Given the description of an element on the screen output the (x, y) to click on. 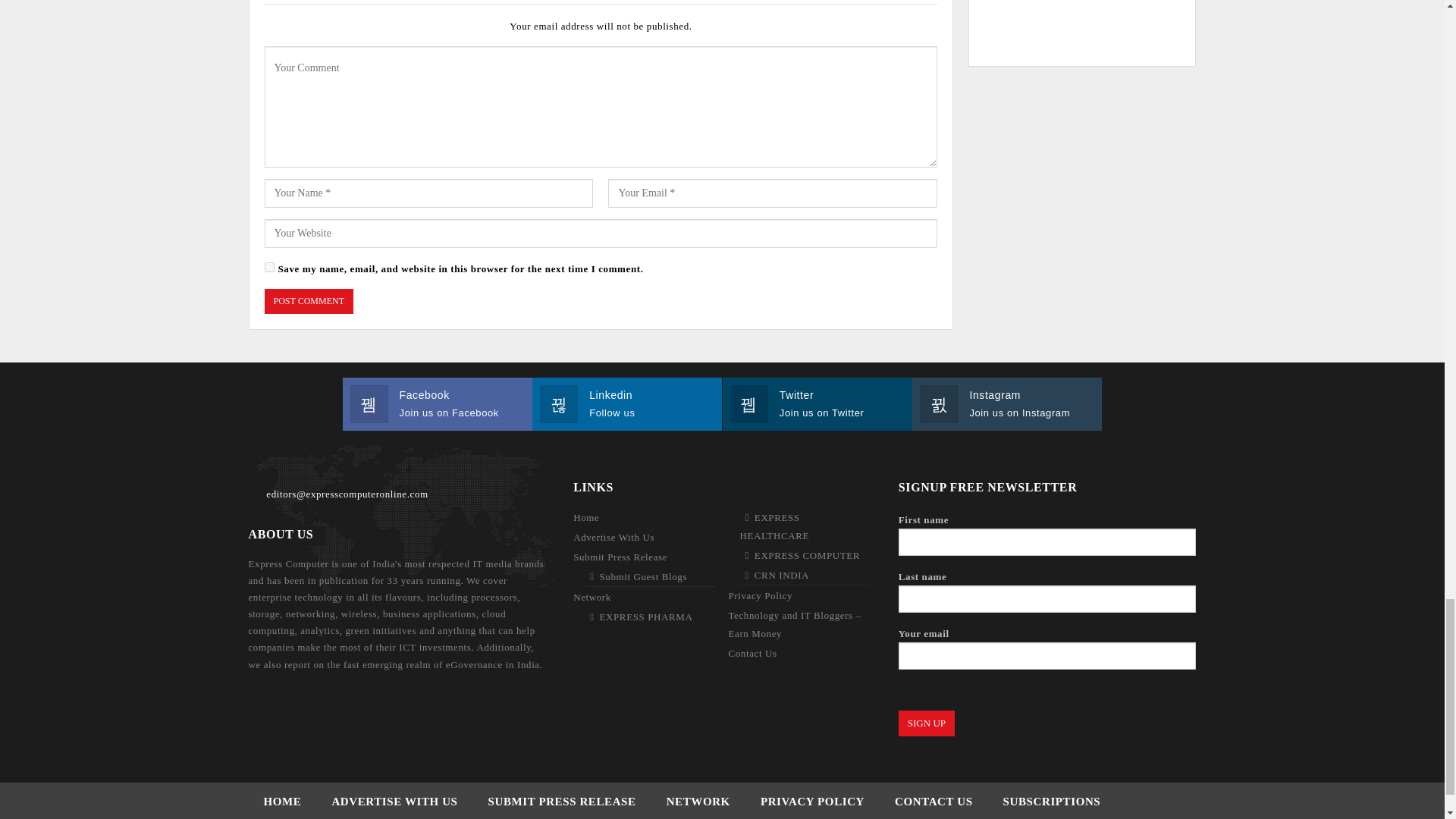
Post Comment (307, 301)
Sign Up (926, 723)
yes (268, 266)
